Given the description of an element on the screen output the (x, y) to click on. 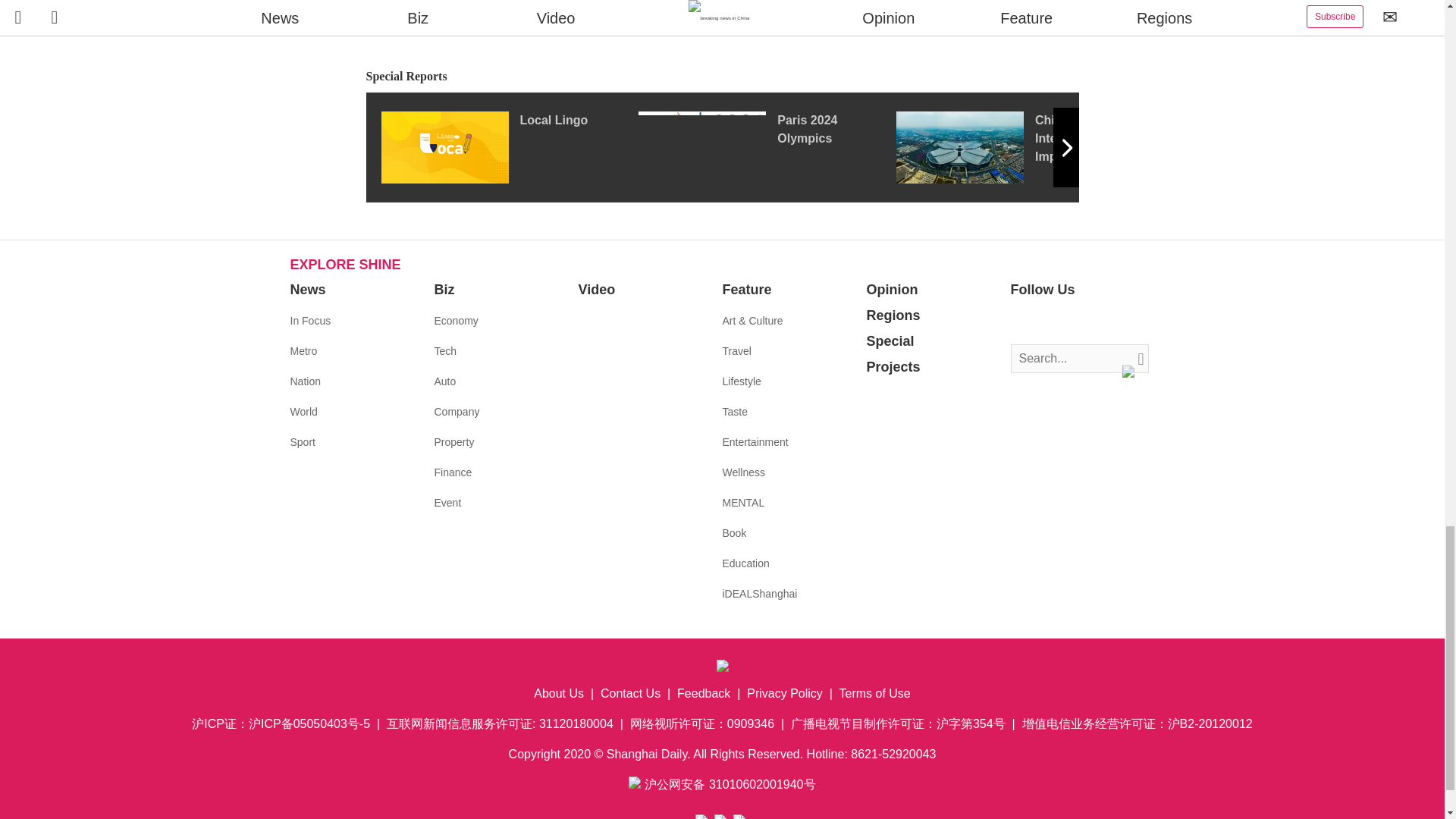
Follow us on Instagram (1067, 321)
Follow us on Youtube (1090, 321)
Follow us on Facebook (1021, 321)
Follow us on Twitter (1044, 321)
China International Import Expo (1024, 146)
Nation (304, 381)
Metro (303, 350)
News (306, 289)
World (303, 411)
Special Reports (721, 76)
In Focus (309, 320)
Follow us on Wechat (1112, 321)
Local Lingo (508, 146)
Paris 2024 Olympics (767, 146)
